Given the description of an element on the screen output the (x, y) to click on. 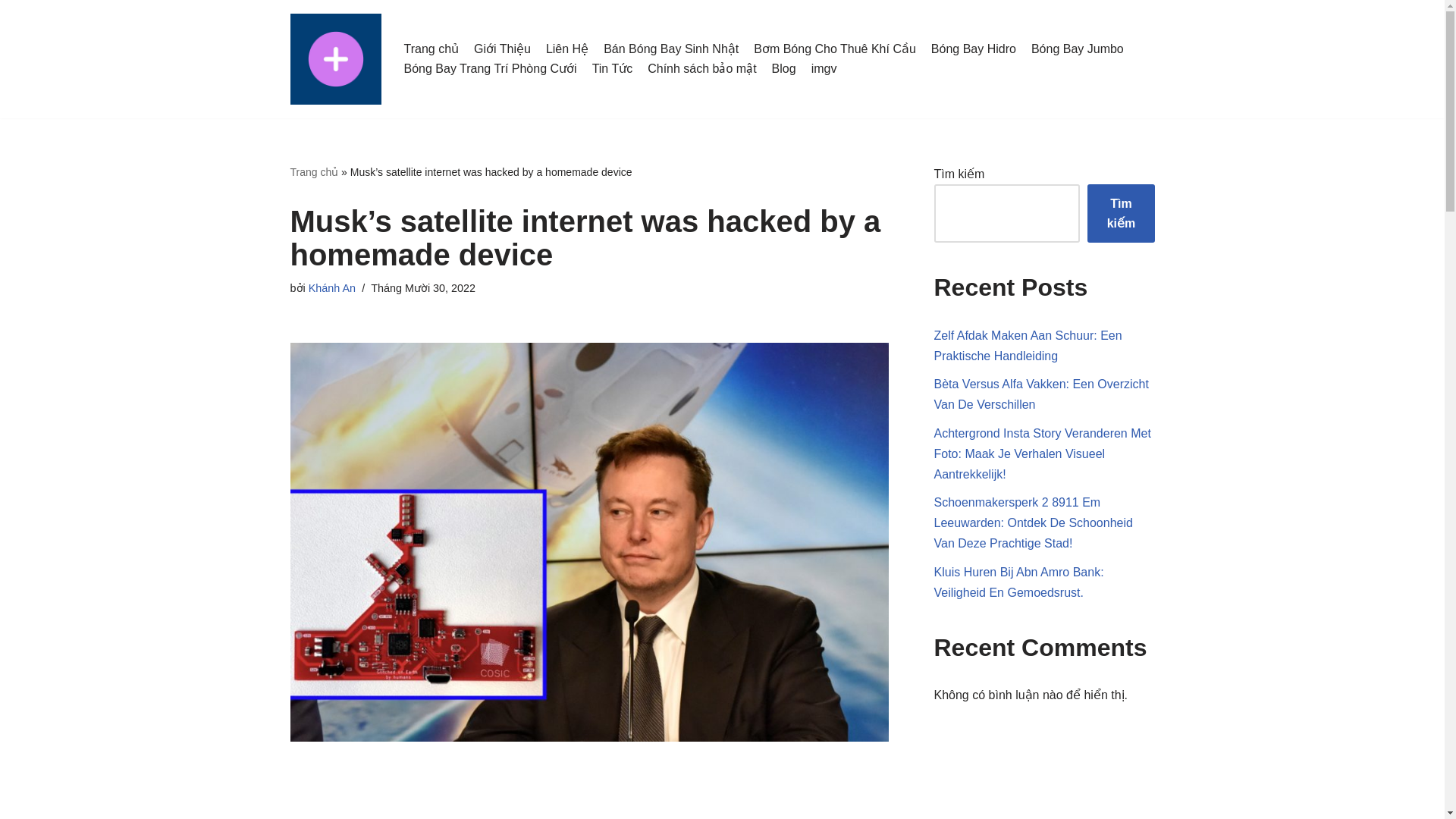
imgv (823, 68)
Bongbayoxi.com (334, 58)
Blog (783, 68)
